Given the description of an element on the screen output the (x, y) to click on. 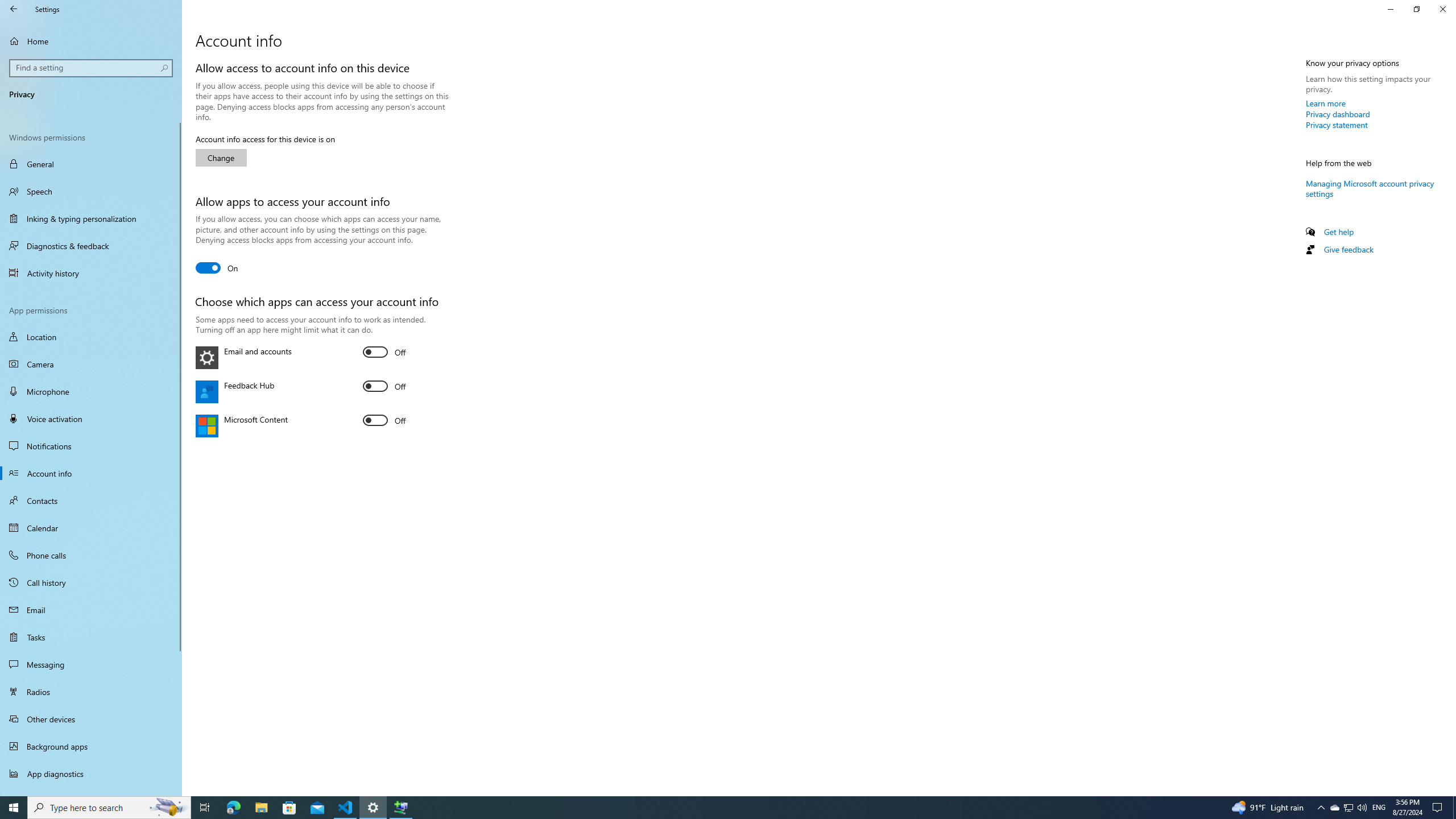
Extensible Wizards Host Process - 1 running window (400, 807)
Email (91, 609)
Tasks (91, 636)
File Explorer (261, 807)
Home (91, 40)
Microsoft Edge (233, 807)
Close Settings (1442, 9)
Start (13, 807)
Q2790: 100% (1361, 807)
Background apps (91, 746)
Microsoft Store (1333, 807)
